Given the description of an element on the screen output the (x, y) to click on. 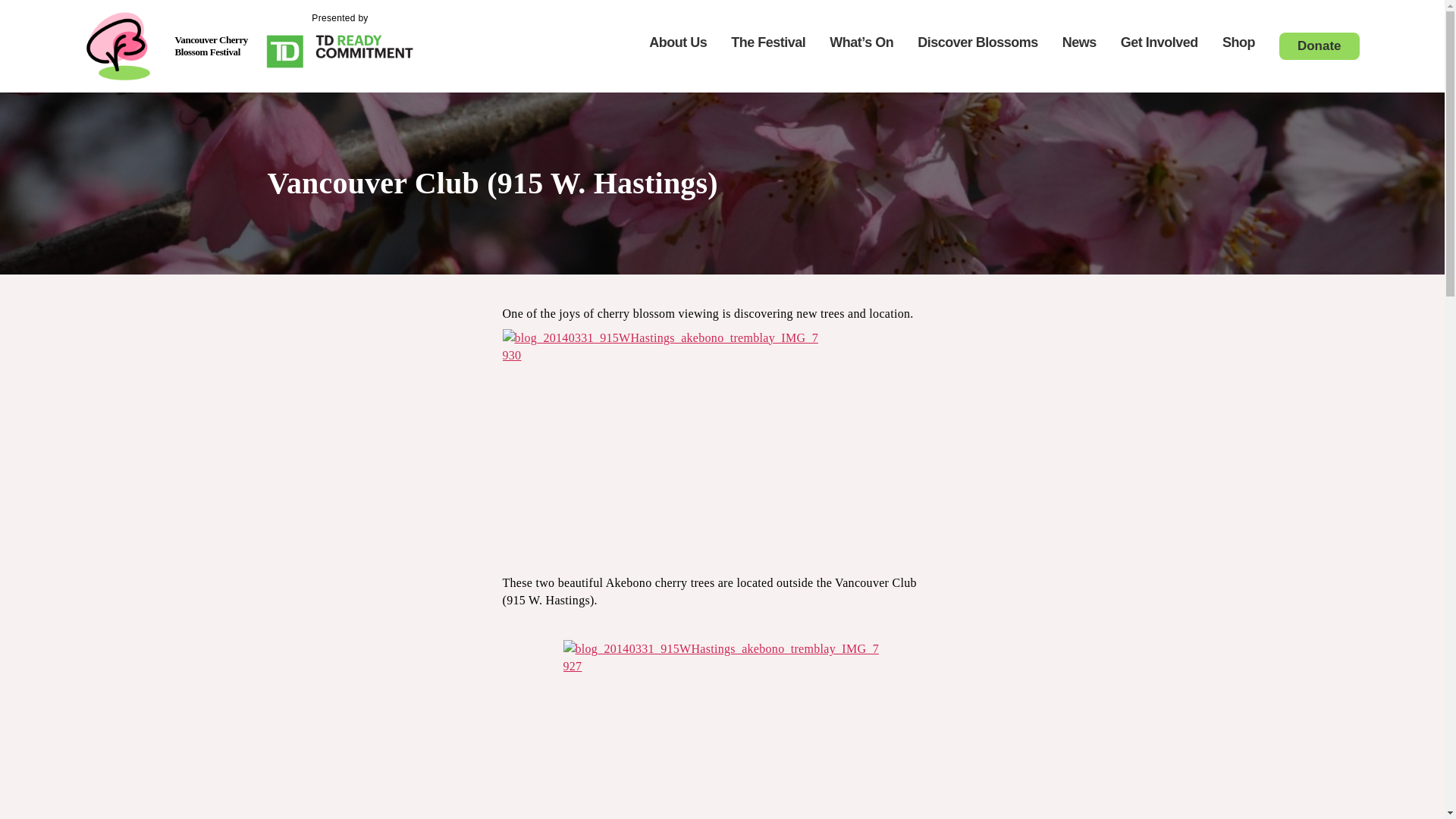
Discover Blossoms (977, 43)
Get Involved (1159, 43)
News (1079, 43)
Shop (1239, 43)
Donate (1319, 45)
The Festival (767, 43)
About Us (677, 43)
Donate (1318, 46)
